Given the description of an element on the screen output the (x, y) to click on. 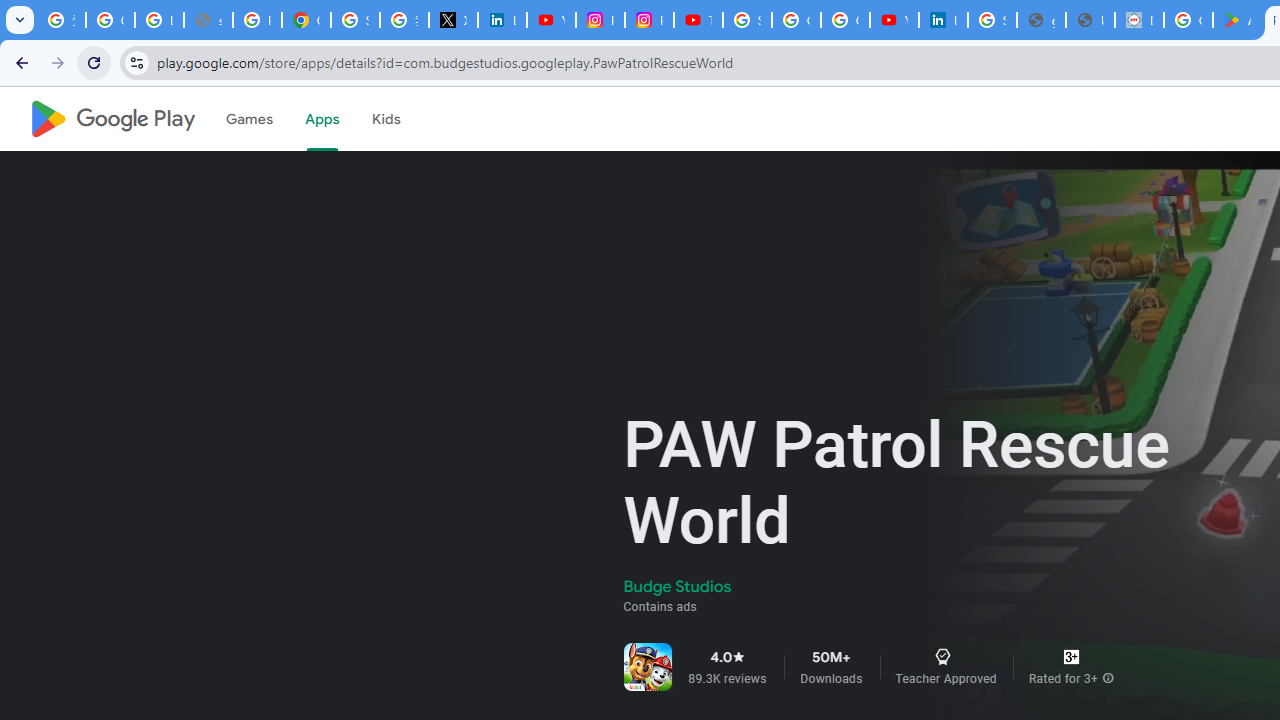
support.google.com - Network error (208, 20)
YouTube Content Monetization Policies - How YouTube Works (551, 20)
LinkedIn Privacy Policy (502, 20)
Google Play logo (111, 119)
Budge Studios (677, 586)
Android Apps on Google Play (1237, 20)
Data Privacy Framework (1138, 20)
